Given the description of an element on the screen output the (x, y) to click on. 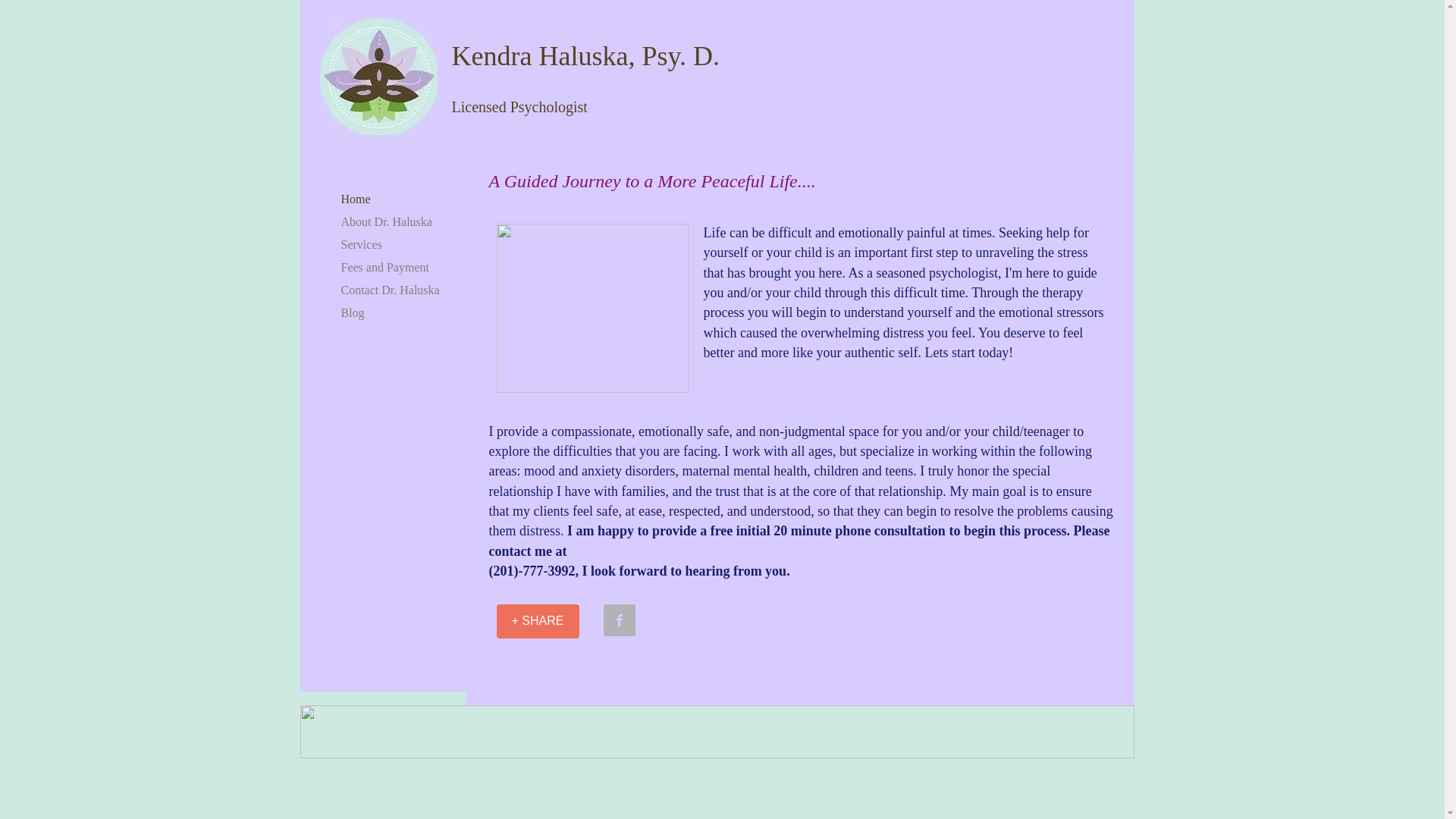
Home (355, 199)
About Dr. Haluska (386, 221)
Services (361, 244)
Fees and Payment (384, 267)
Blog (352, 312)
Contact Dr. Haluska (389, 290)
